Given the description of an element on the screen output the (x, y) to click on. 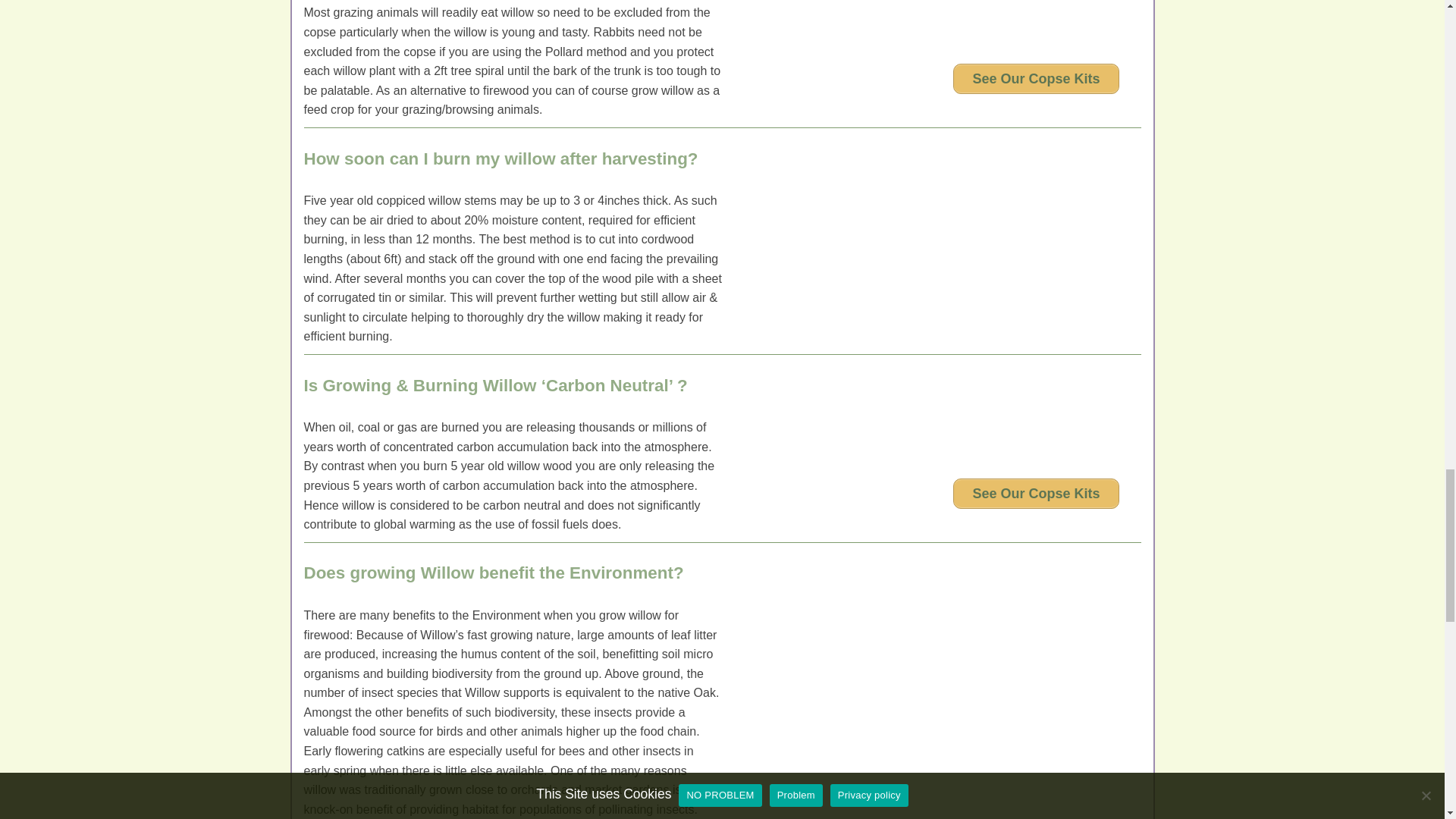
See Our Copse Kits (1035, 78)
